Given the description of an element on the screen output the (x, y) to click on. 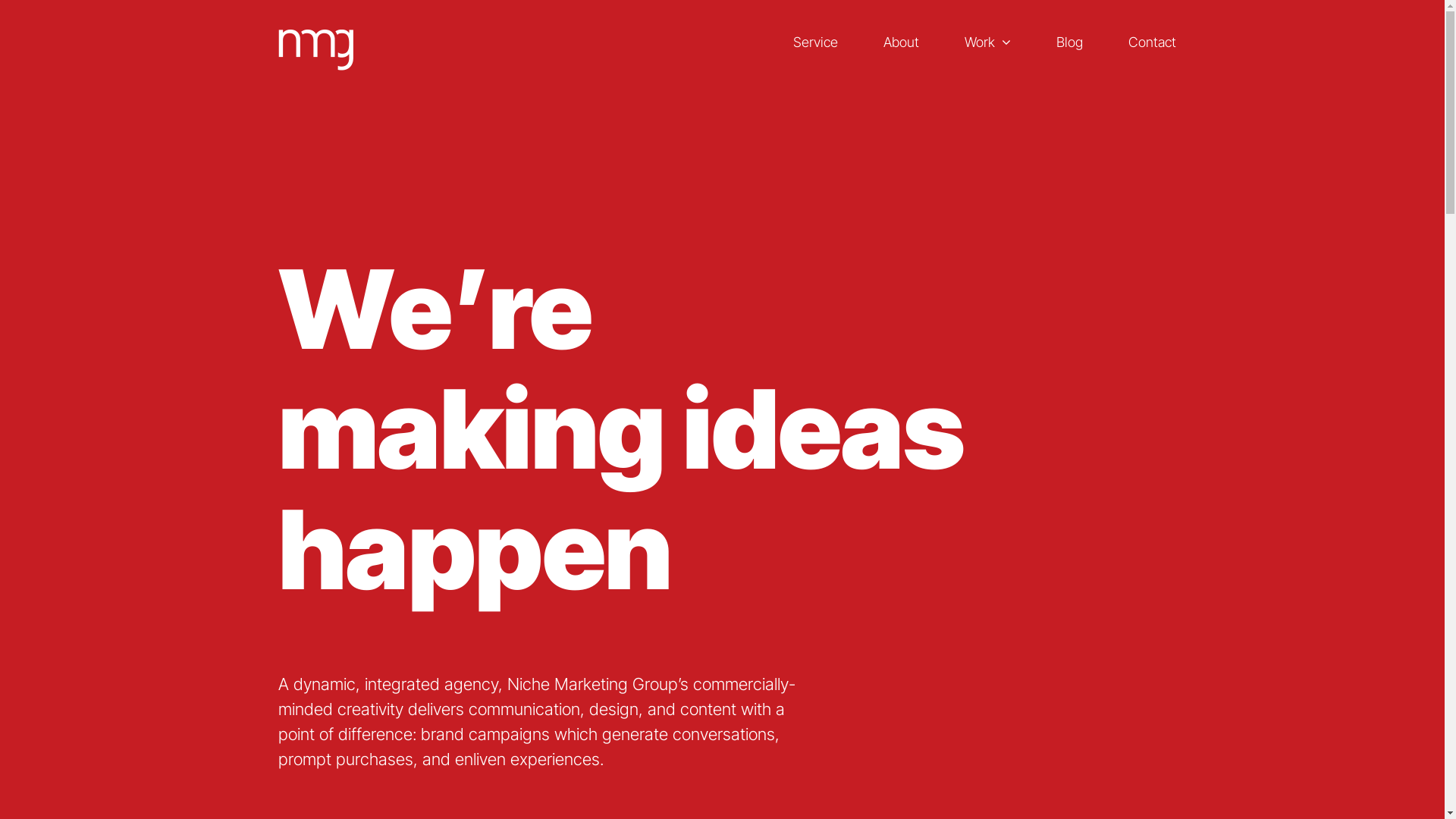
Work Element type: text (987, 41)
Contact Element type: text (1152, 41)
Service Element type: text (815, 41)
About Element type: text (901, 41)
Blog Element type: text (1069, 41)
